Given the description of an element on the screen output the (x, y) to click on. 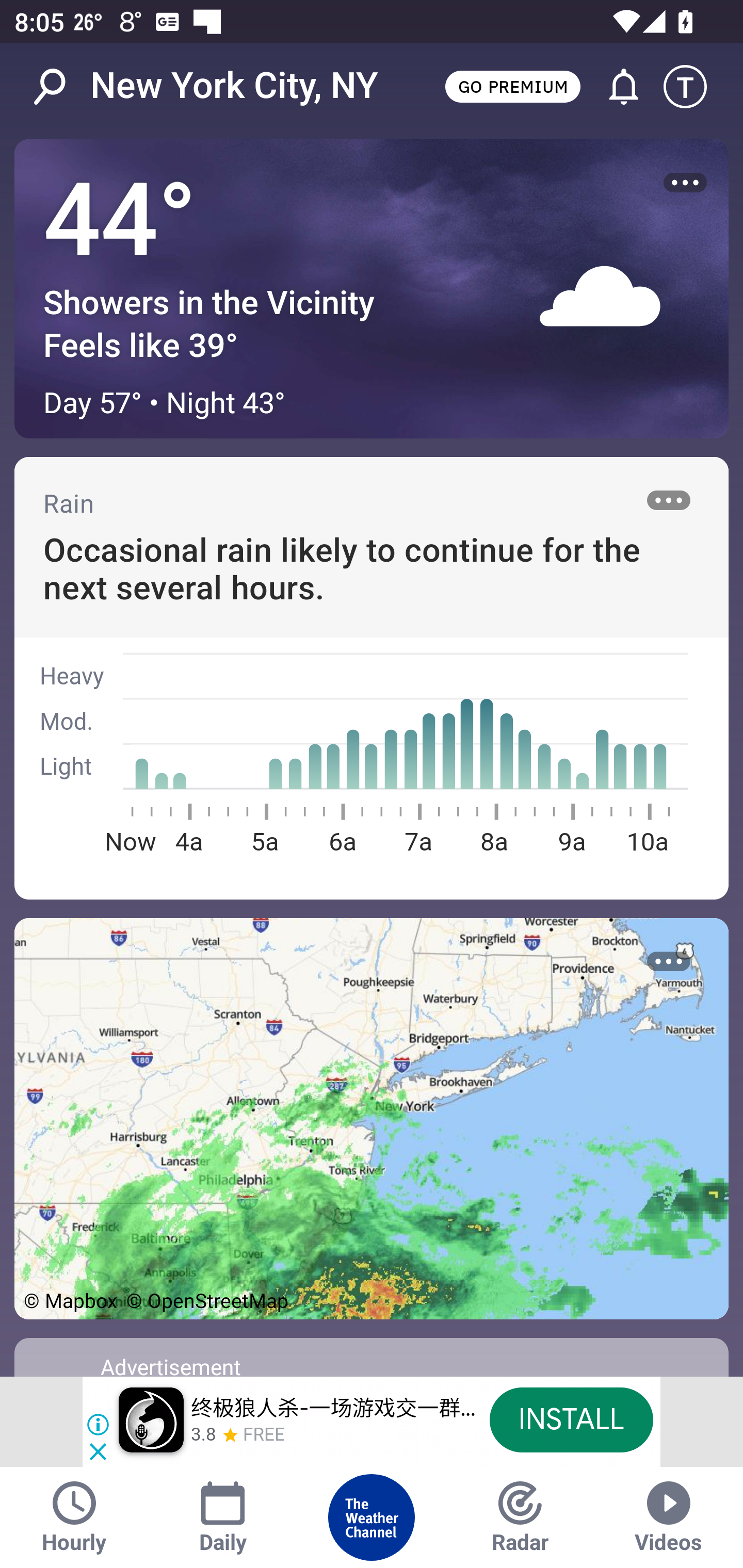
Search (59, 86)
Go to Alerts and Notifications (614, 86)
Setting icon T (694, 86)
New York City, NY (234, 85)
GO PREMIUM (512, 85)
More options (684, 182)
More options (668, 500)
See Map Details (371, 1118)
More options (668, 961)
INSTALL (570, 1419)
终极狼人杀-一场游戏交一群… (333, 1408)
Hourly Tab Hourly (74, 1517)
Daily Tab Daily (222, 1517)
Radar Tab Radar (519, 1517)
Videos Tab Videos (668, 1517)
